Given the description of an element on the screen output the (x, y) to click on. 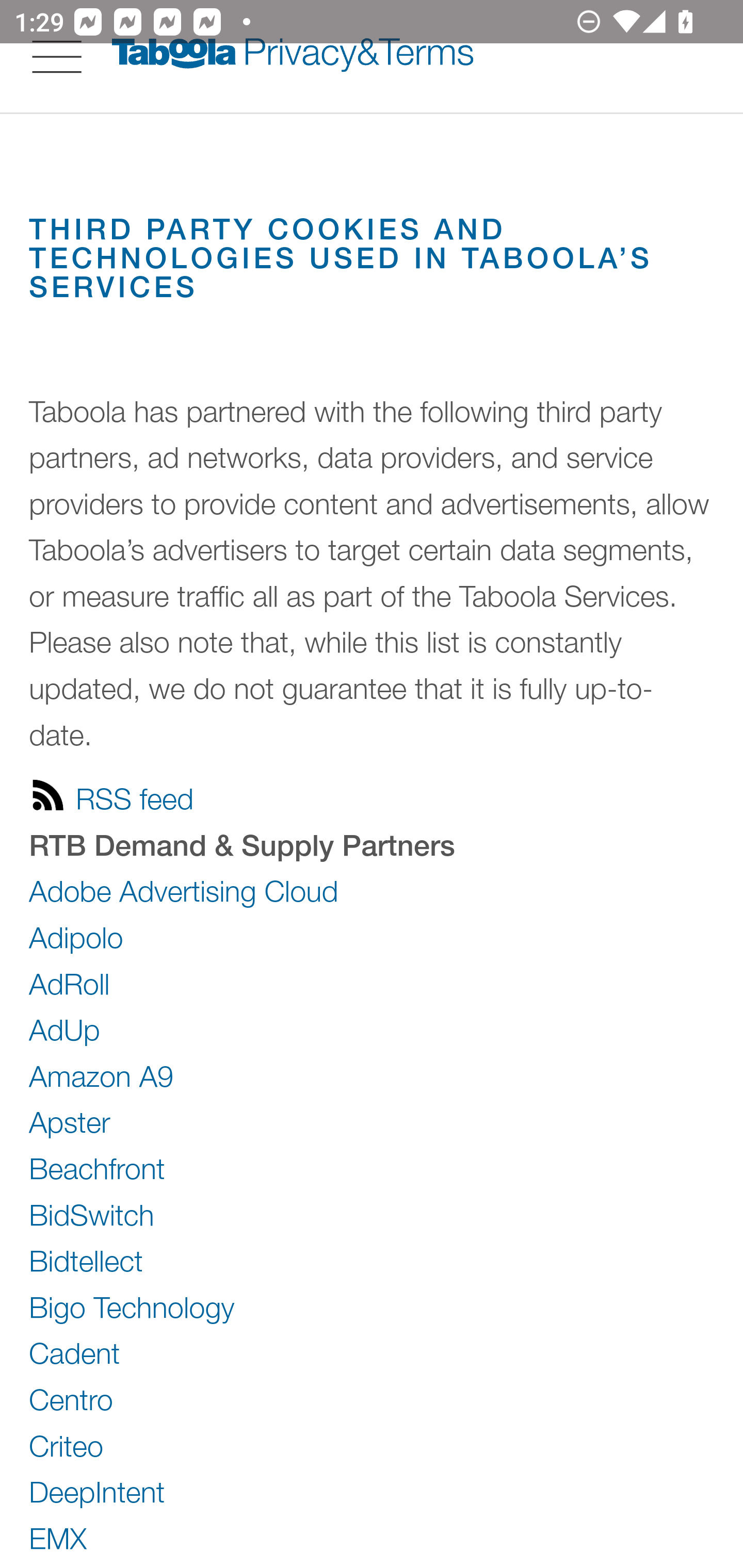
Taboola Privacy & Terms Logo (292, 56)
RSS feed (111, 795)
Adobe Advertising Cloud (183, 891)
Adipolo (76, 936)
AdRoll (68, 983)
AdUp (64, 1029)
Amazon A9 (101, 1076)
Apster (70, 1123)
Beachfront (97, 1167)
BidSwitch (91, 1214)
Bidtellect (86, 1260)
Bigo Technology (131, 1306)
Cadent (74, 1353)
Centro (70, 1399)
Criteo (66, 1446)
DeepIntent (97, 1490)
EMX (58, 1537)
